Given the description of an element on the screen output the (x, y) to click on. 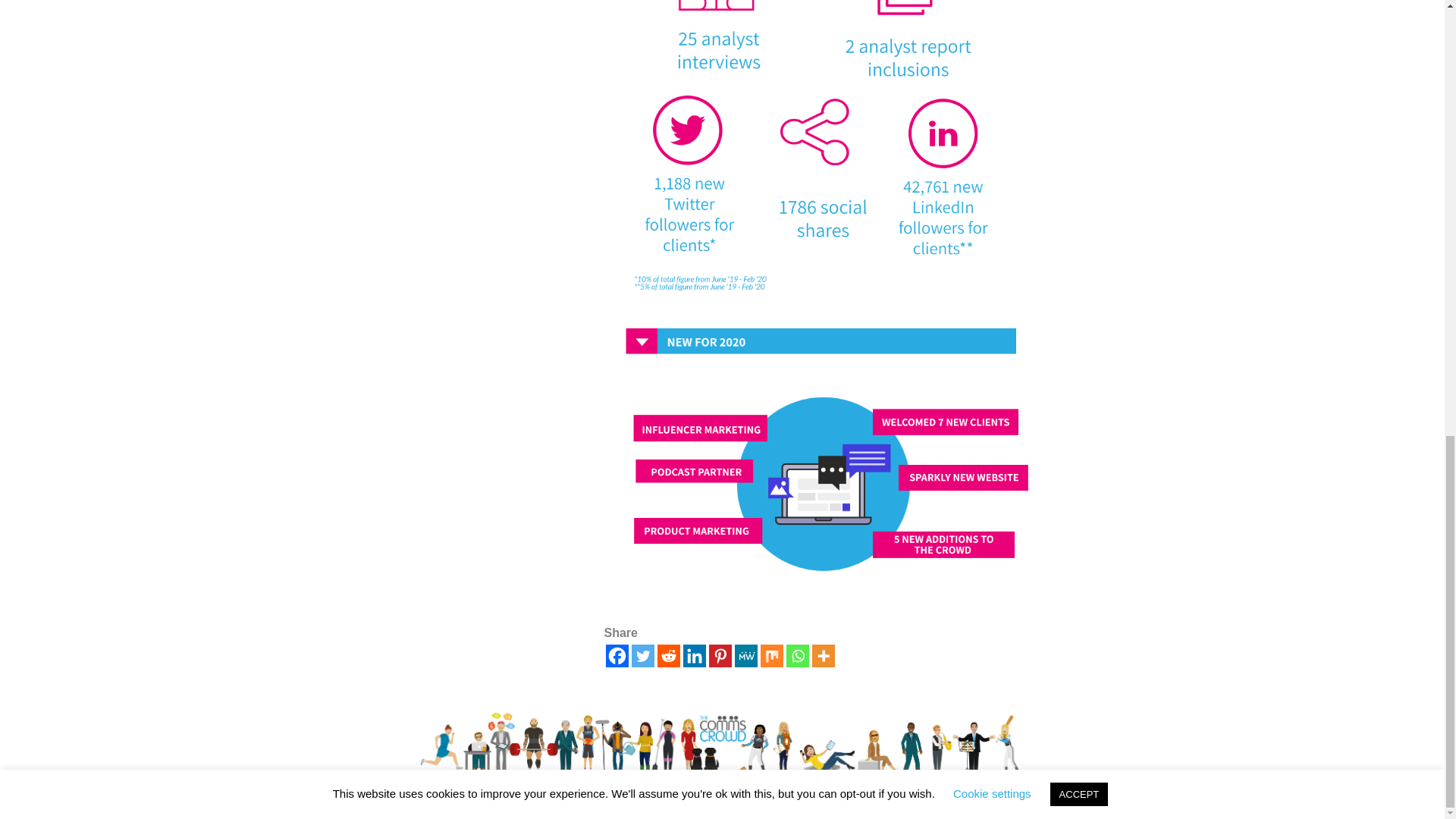
Linkedin (693, 655)
Reddit (667, 655)
Twitter (641, 655)
Mix (771, 655)
Whatsapp (797, 655)
More (822, 655)
Pinterest (718, 655)
MeWe (745, 655)
Facebook (616, 655)
